Given the description of an element on the screen output the (x, y) to click on. 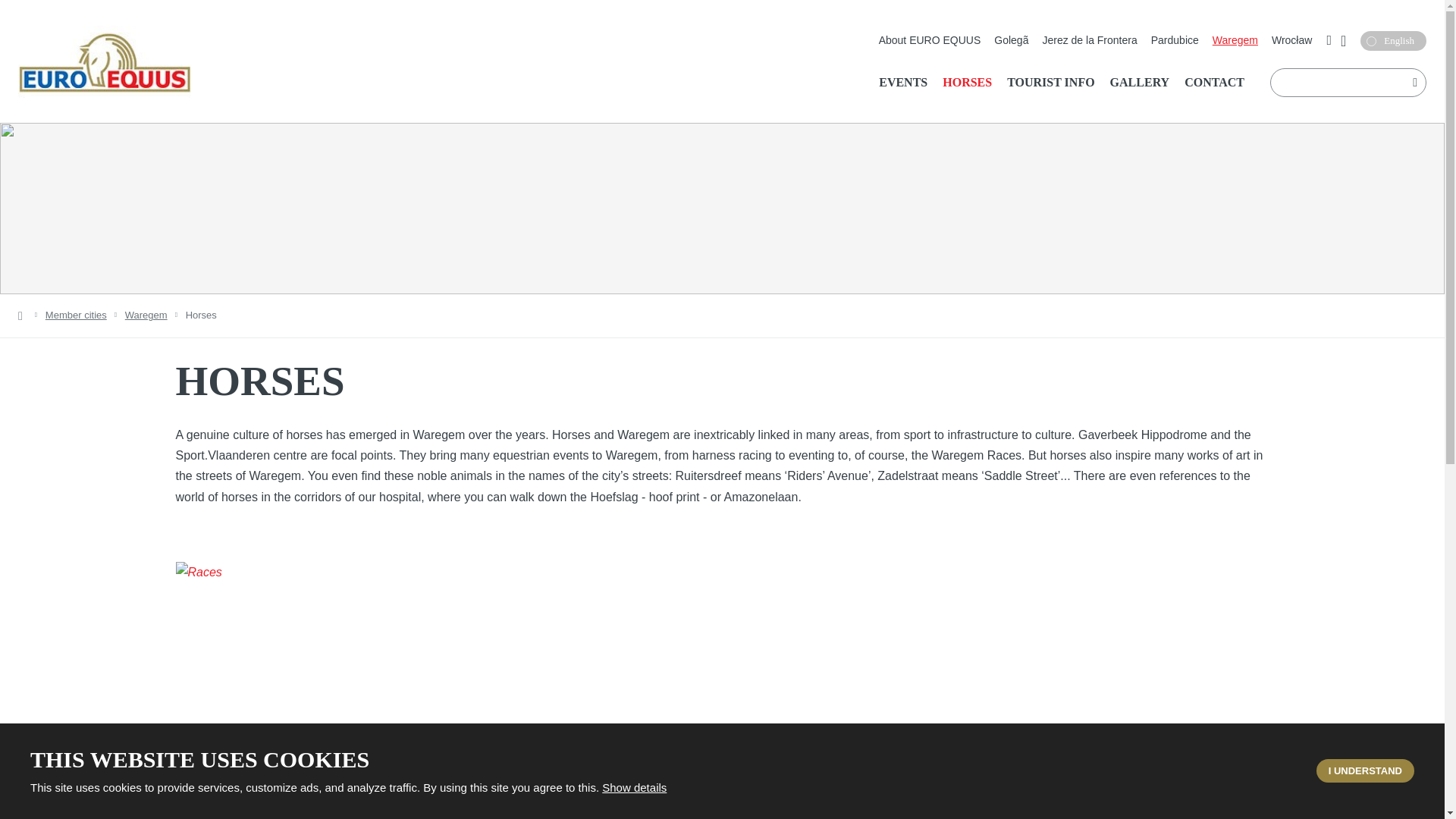
HORSES (966, 81)
GALLERY (1139, 81)
English (1392, 40)
EVENTS (902, 81)
About EURO EQUUS (930, 40)
Waregem (1234, 40)
CONTACT (1214, 81)
Jerez de la Frontera (1089, 40)
TOURIST INFO (1050, 81)
Pardubice (1174, 40)
